Given the description of an element on the screen output the (x, y) to click on. 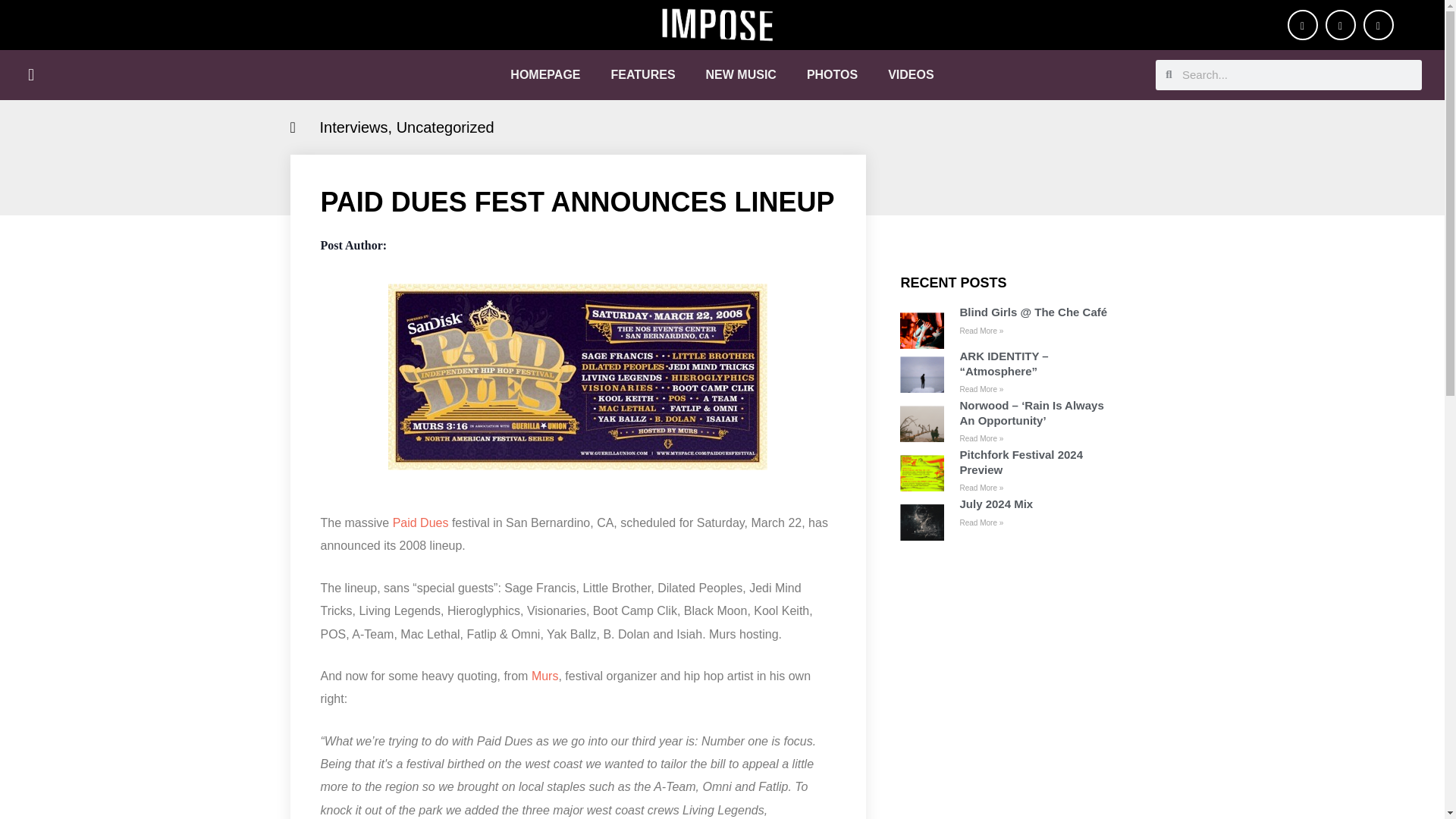
PHOTOS (832, 74)
Uncategorized (445, 126)
Murs (545, 676)
FEATURES (642, 74)
Paid Dues (420, 522)
HOMEPAGE (545, 74)
NEW MUSIC (741, 74)
Interviews (354, 126)
VIDEOS (910, 74)
